Given the description of an element on the screen output the (x, y) to click on. 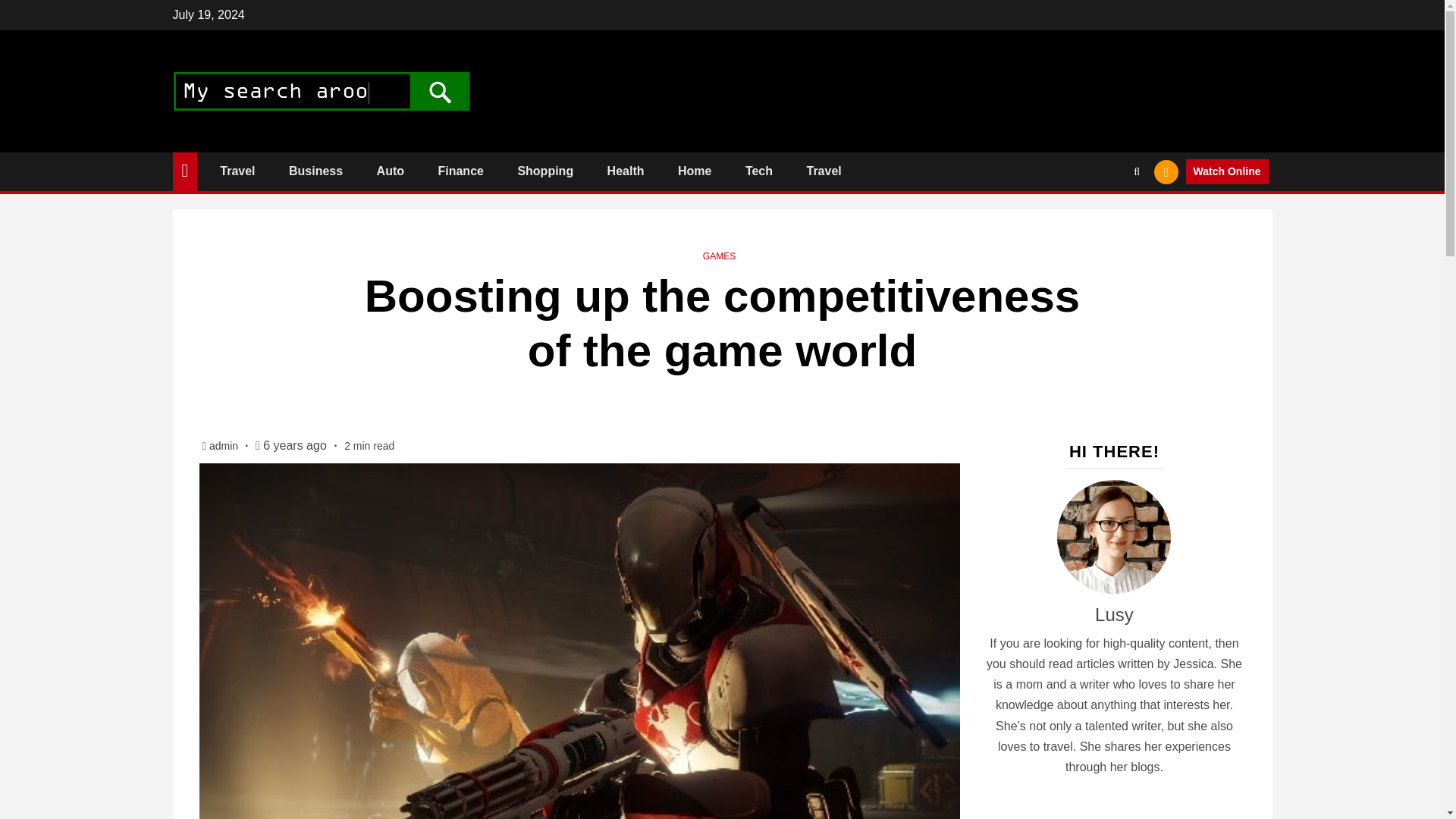
Health (626, 170)
admin (225, 445)
Home (694, 170)
Travel (236, 170)
Tech (759, 170)
Business (315, 170)
Watch Online (1227, 171)
Auto (390, 170)
GAMES (719, 255)
Travel (823, 170)
Finance (460, 170)
Shopping (544, 170)
Search (1106, 217)
